Given the description of an element on the screen output the (x, y) to click on. 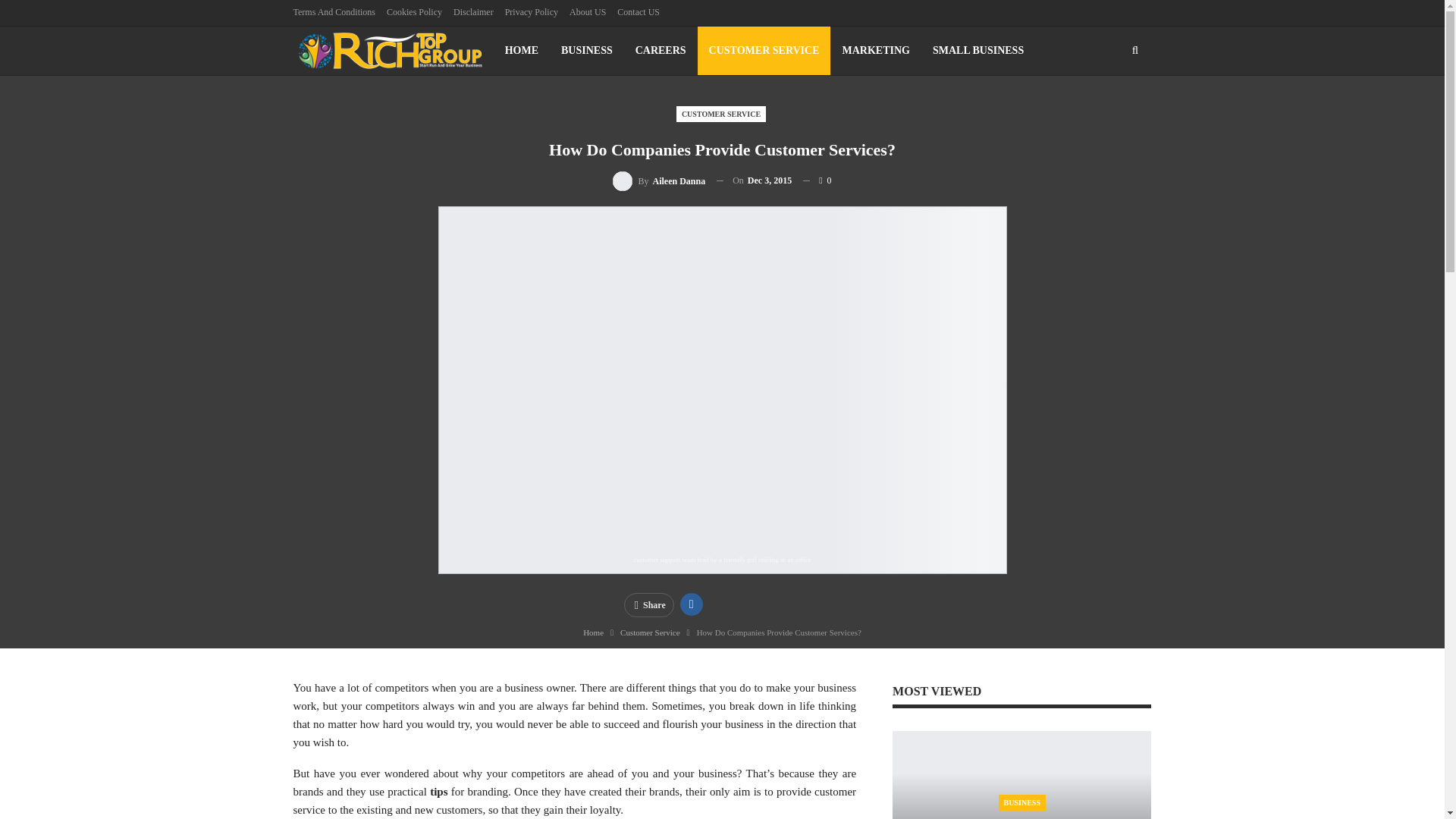
CUSTOMER SERVICE (721, 114)
About US (587, 11)
MARKETING (876, 50)
CUSTOMER SERVICE (764, 50)
Privacy Policy (531, 11)
0 (817, 180)
HOME (521, 50)
Browse Author Articles (658, 180)
SMALL BUSINESS (978, 50)
By Aileen Danna (658, 180)
Terms And Conditions (333, 11)
Disclaimer (472, 11)
BUSINESS (587, 50)
CAREERS (660, 50)
Cookies Policy (414, 11)
